Given the description of an element on the screen output the (x, y) to click on. 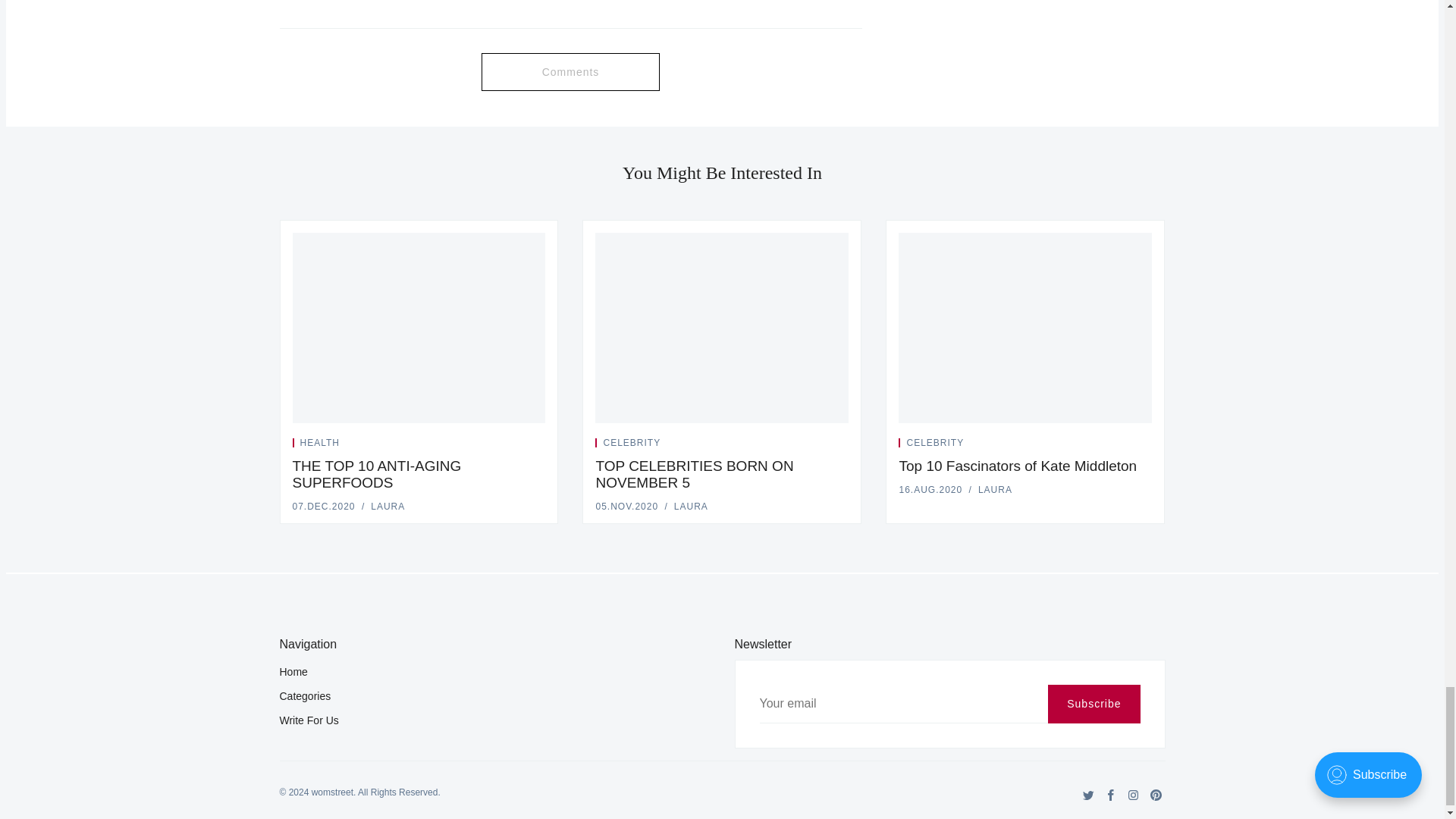
LAURA (387, 506)
CELEBRITY (631, 442)
THE TOP 10 ANTI-AGING SUPERFOODS (376, 474)
Comments (570, 71)
LAURA (690, 506)
HEALTH (319, 442)
TOP CELEBRITIES BORN ON NOVEMBER 5 (694, 474)
